Given the description of an element on the screen output the (x, y) to click on. 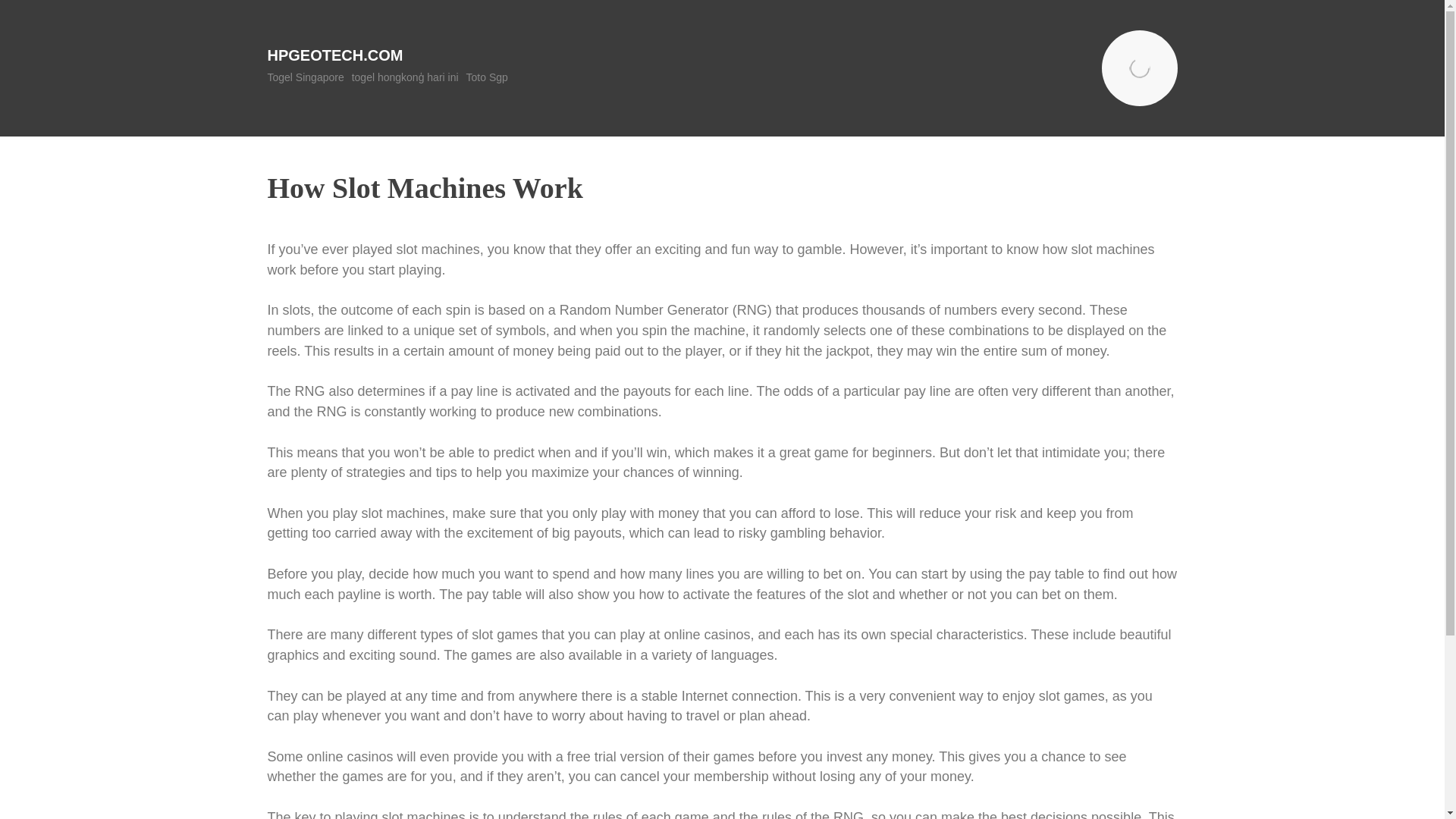
Toto Sgp (486, 77)
Togel Singapore (304, 77)
hpgeotech.com (334, 54)
HPGEOTECH.COM (334, 54)
